Given the description of an element on the screen output the (x, y) to click on. 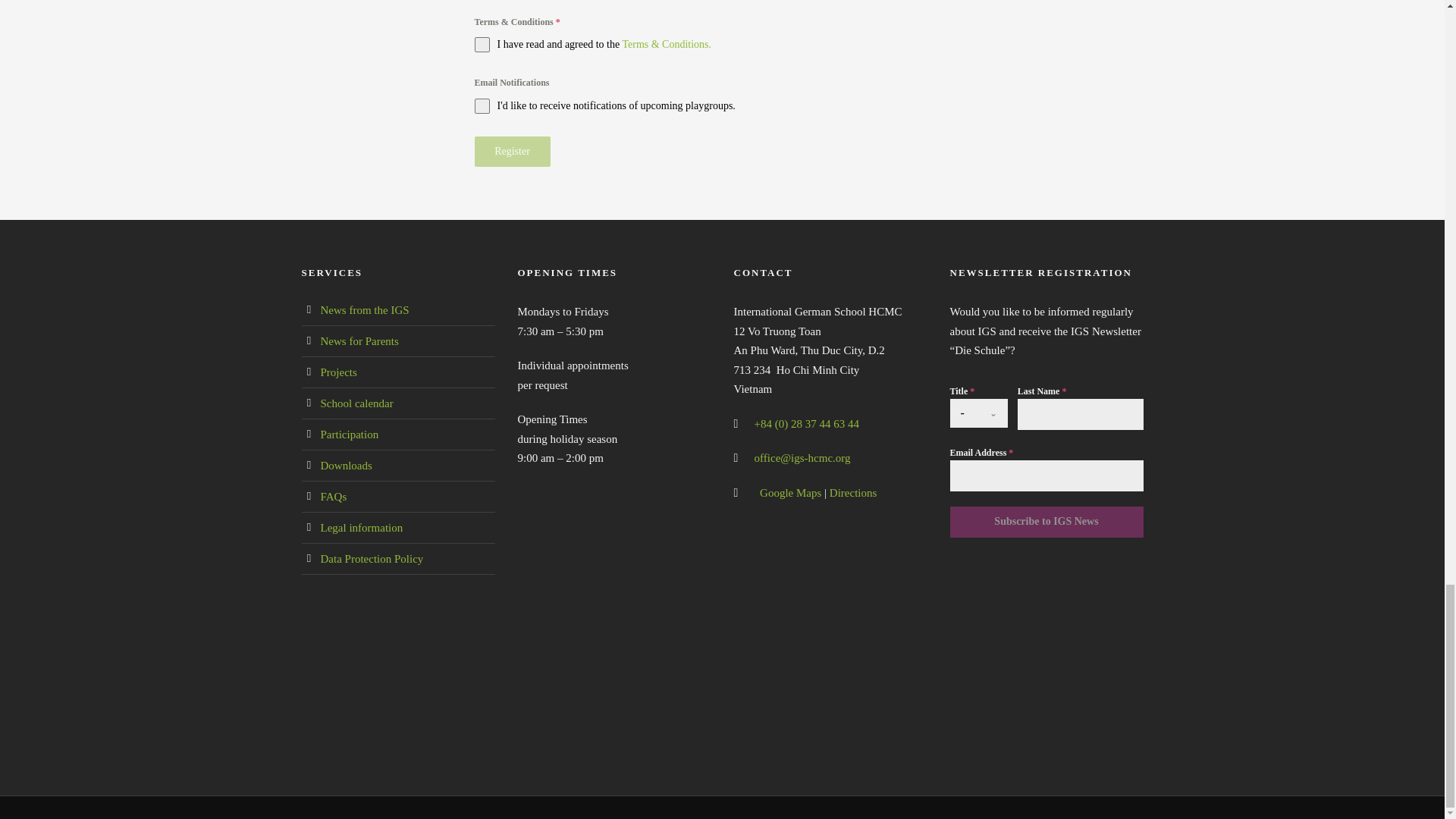
- (963, 412)
I'd like to receive notifications of upcoming playgroups. (722, 105)
